Given the description of an element on the screen output the (x, y) to click on. 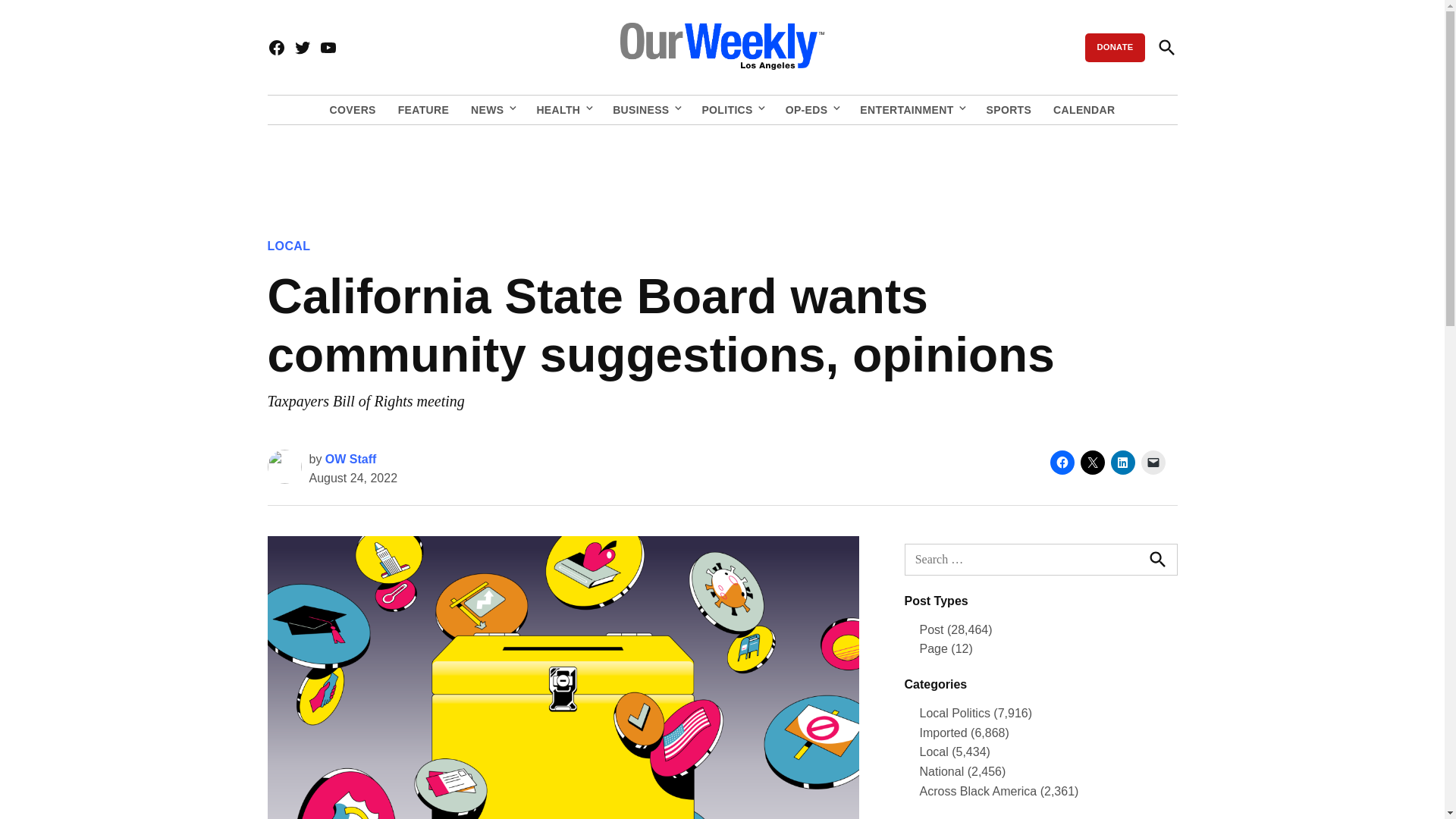
3rd party ad content (721, 171)
Click to email a link to a friend (1152, 462)
Click to share on LinkedIn (1121, 462)
Click to share on Facebook (1061, 462)
Click to share on X (1091, 462)
